Given the description of an element on the screen output the (x, y) to click on. 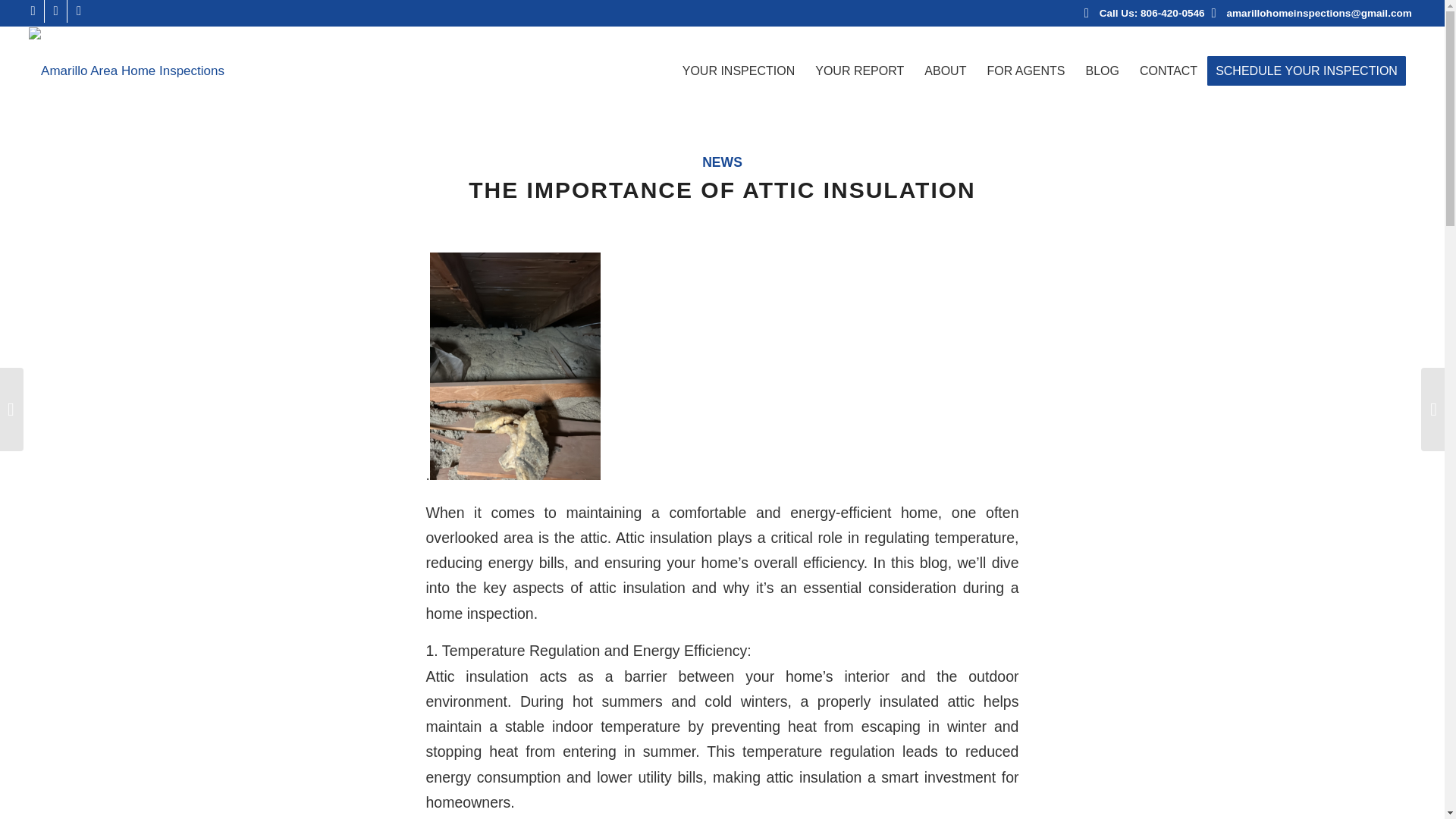
YOUR INSPECTION (738, 71)
Instagram (55, 11)
Google (78, 11)
Facebook (32, 11)
FOR AGENTS (1024, 71)
Call Us: 806-420-0546 (1152, 12)
NEWS (721, 161)
SCHEDULE YOUR INSPECTION (1311, 71)
YOUR REPORT (859, 71)
